Given the description of an element on the screen output the (x, y) to click on. 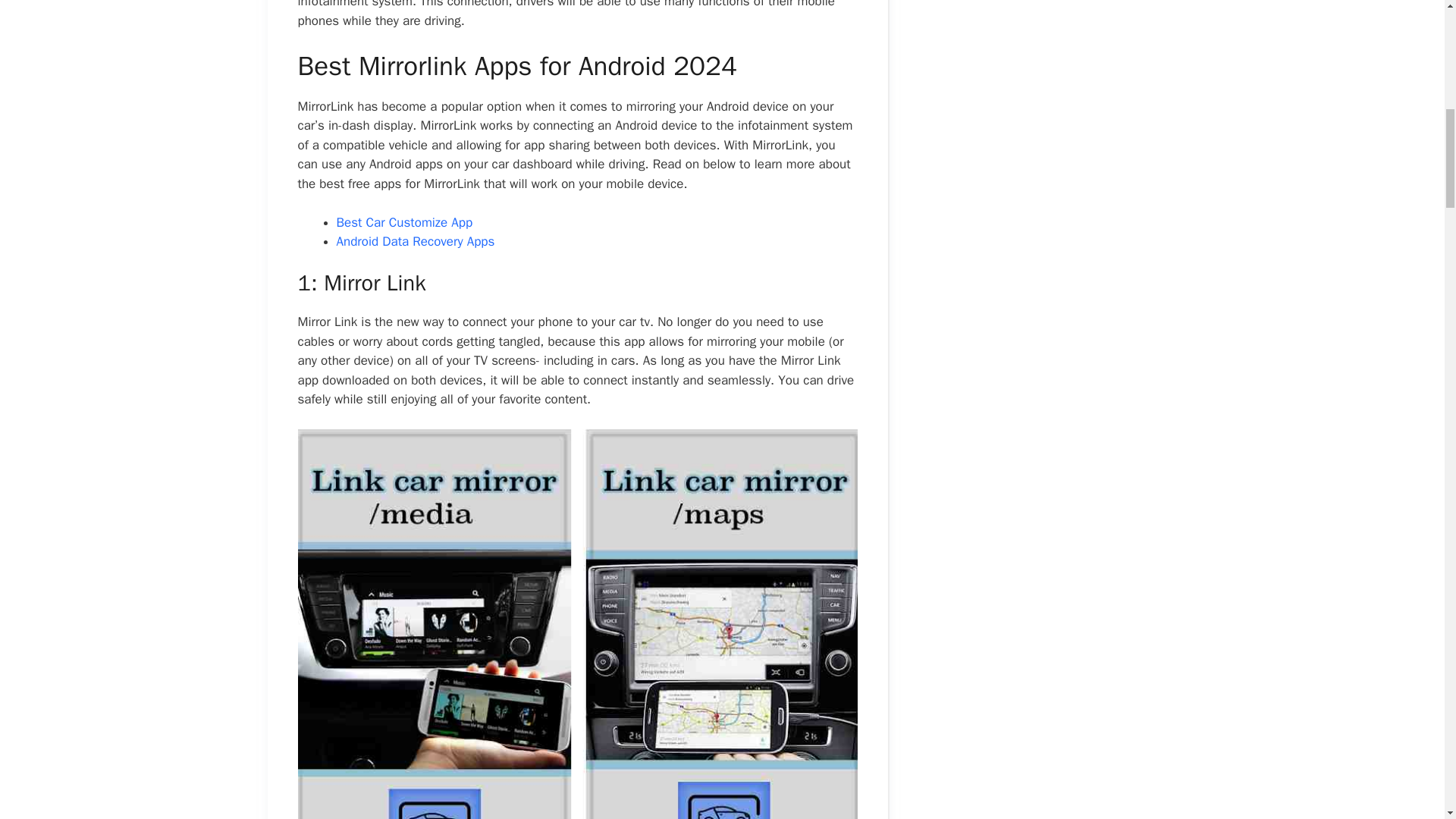
Android Data Recovery Apps (415, 241)
Best Car Customize App (404, 222)
